Given the description of an element on the screen output the (x, y) to click on. 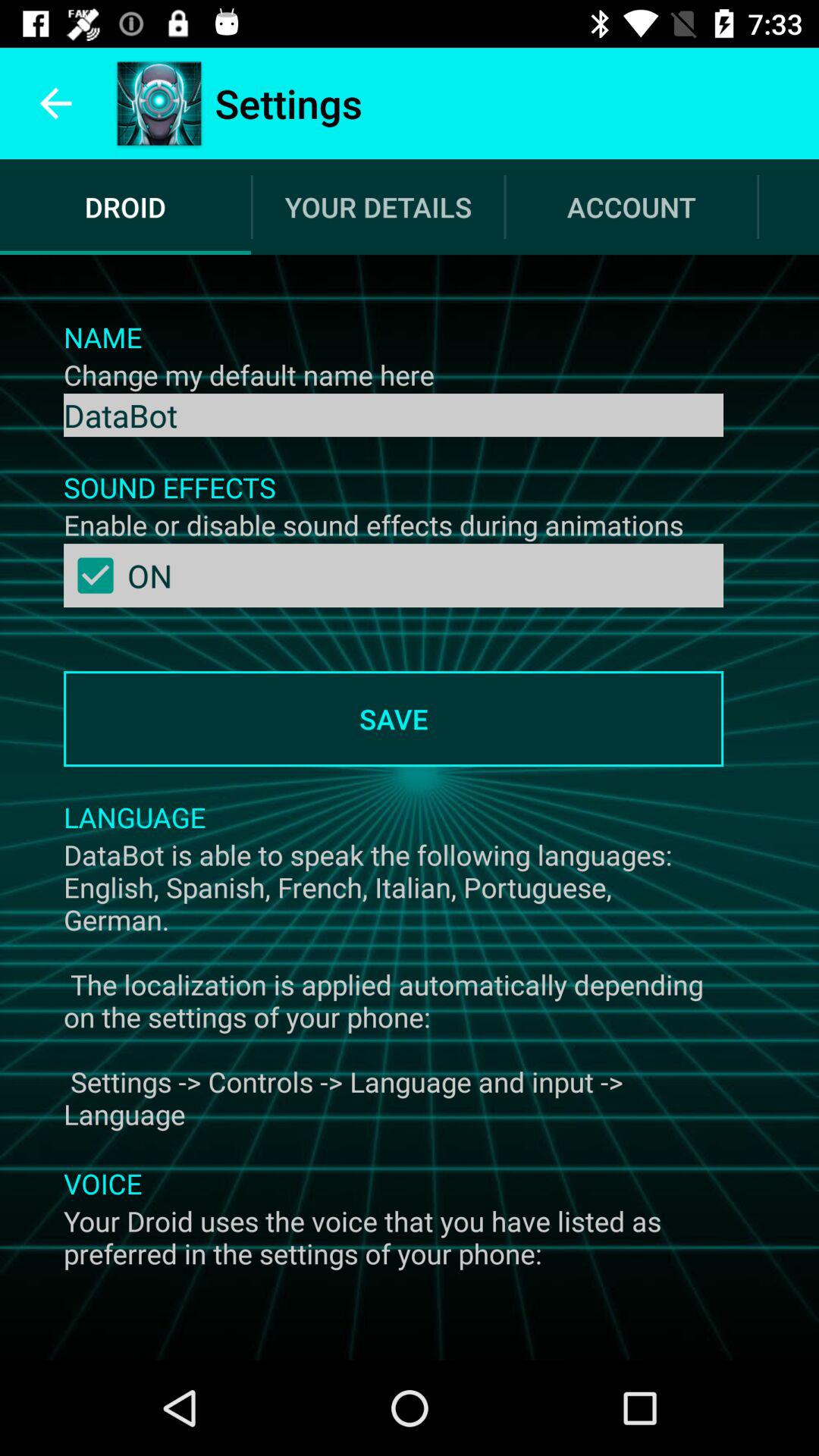
swipe until the save (393, 718)
